Given the description of an element on the screen output the (x, y) to click on. 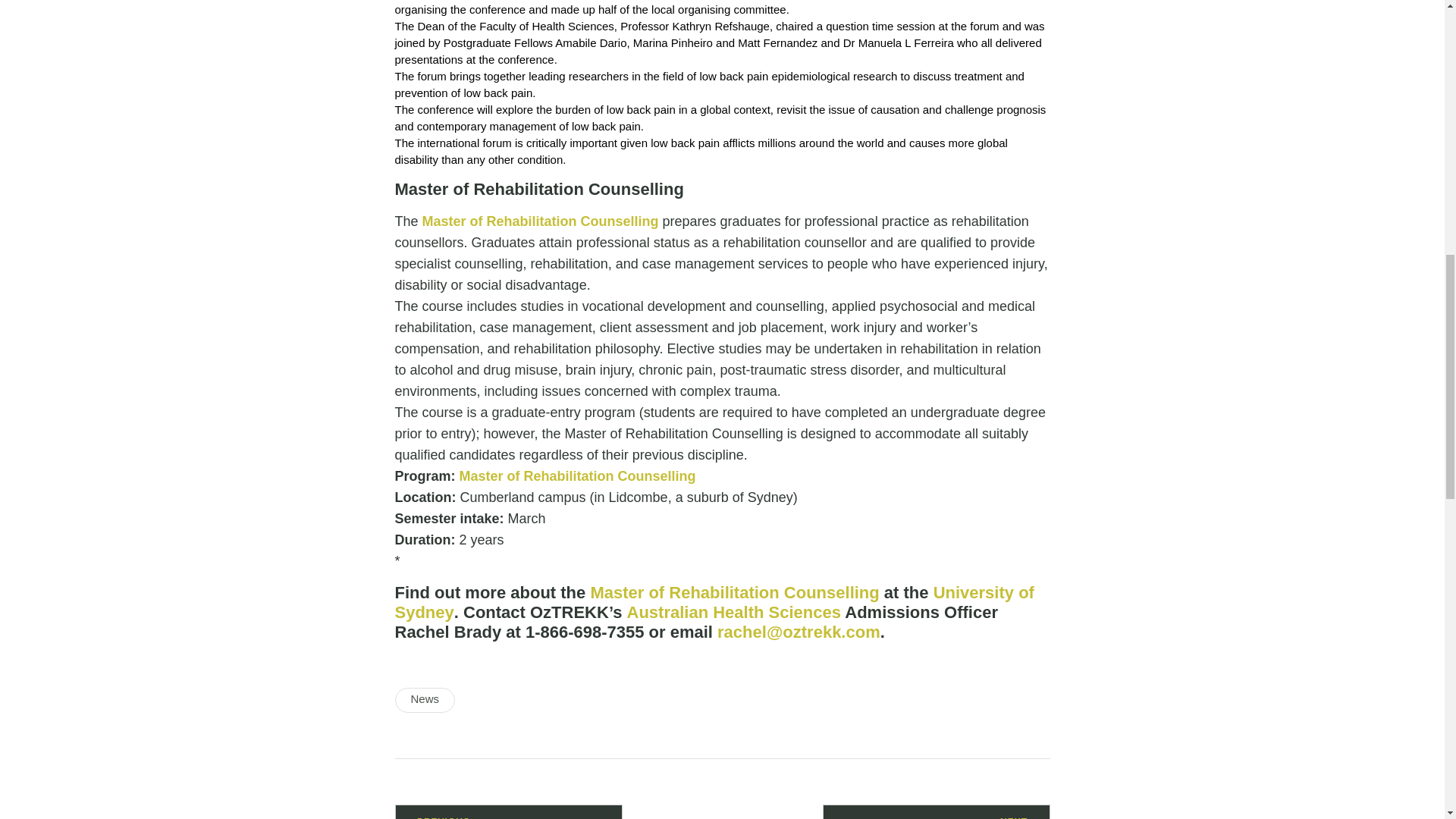
University of Sydney (713, 602)
Master of Rehabilitation Counselling (577, 476)
Australian Health Sciences programs (734, 611)
Master of Rehabilitation Counselling (540, 221)
Email Rachel at OzTREKK (798, 631)
Master of Rehabilitation Counselling (734, 592)
